Given the description of an element on the screen output the (x, y) to click on. 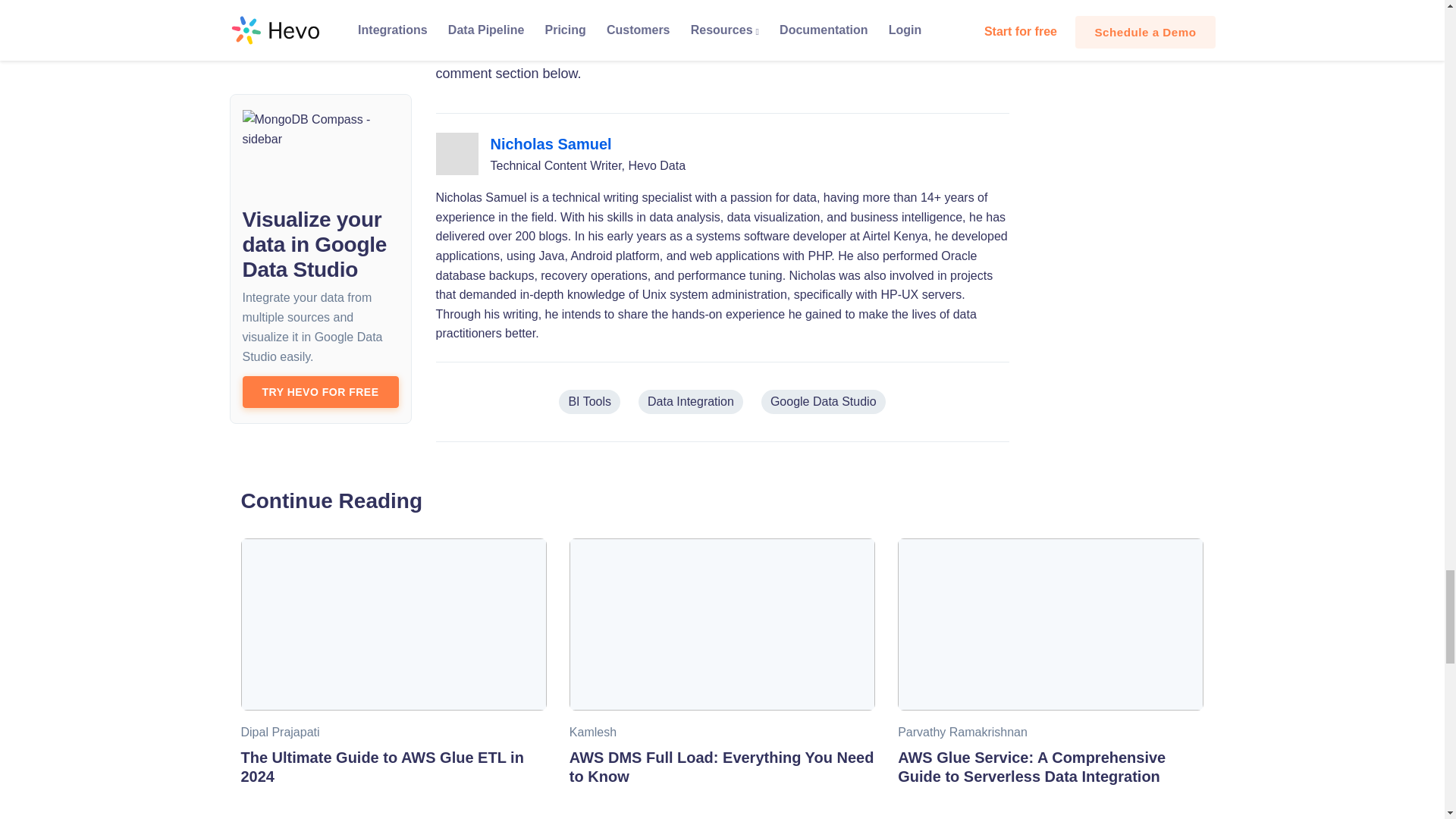
Nicholas Samuel (550, 143)
SIGN UP (614, 12)
Nicholas Samuel (550, 143)
